Given the description of an element on the screen output the (x, y) to click on. 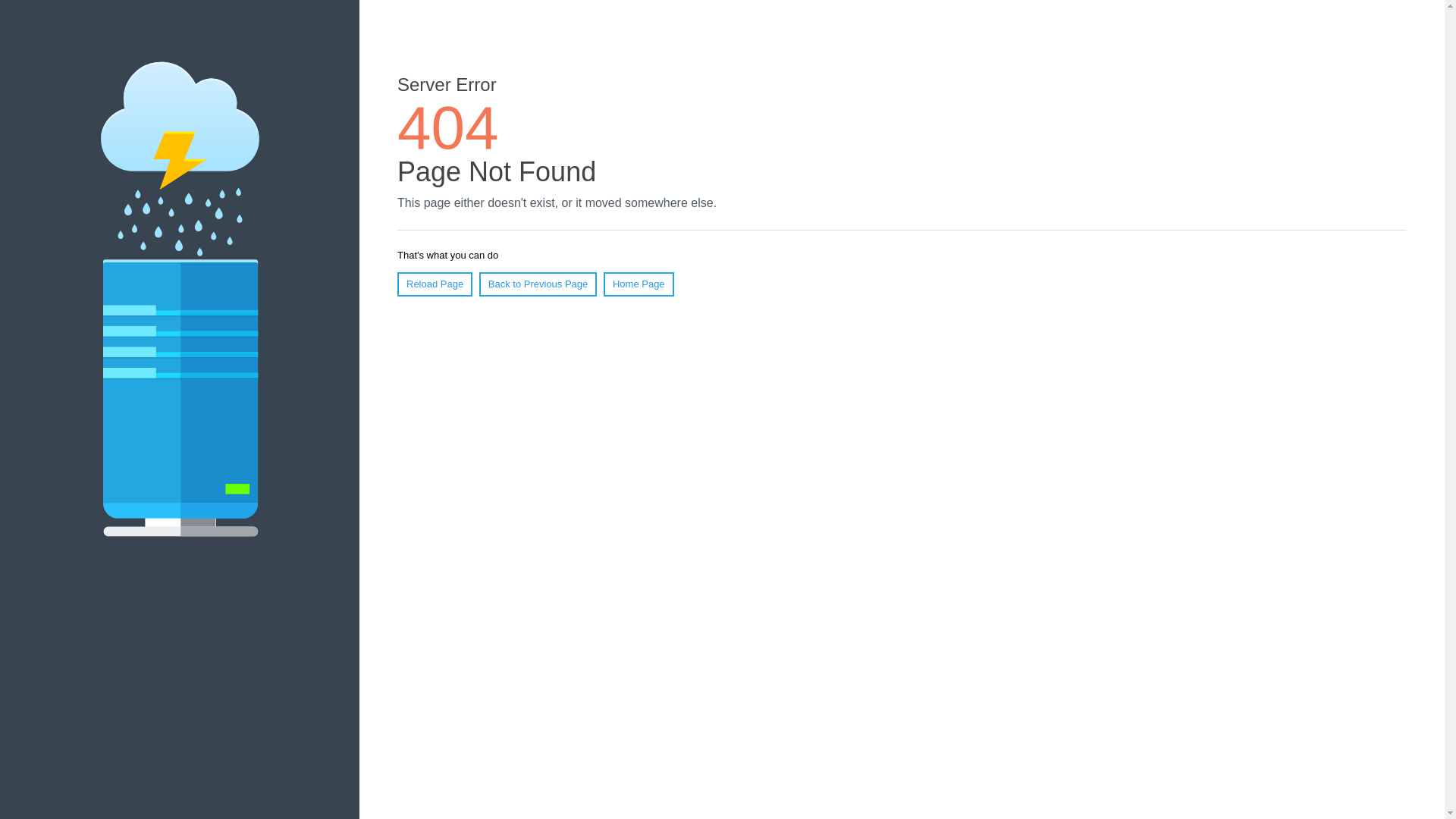
Back to Previous Page Element type: text (538, 284)
Home Page Element type: text (638, 284)
Reload Page Element type: text (434, 284)
